Given the description of an element on the screen output the (x, y) to click on. 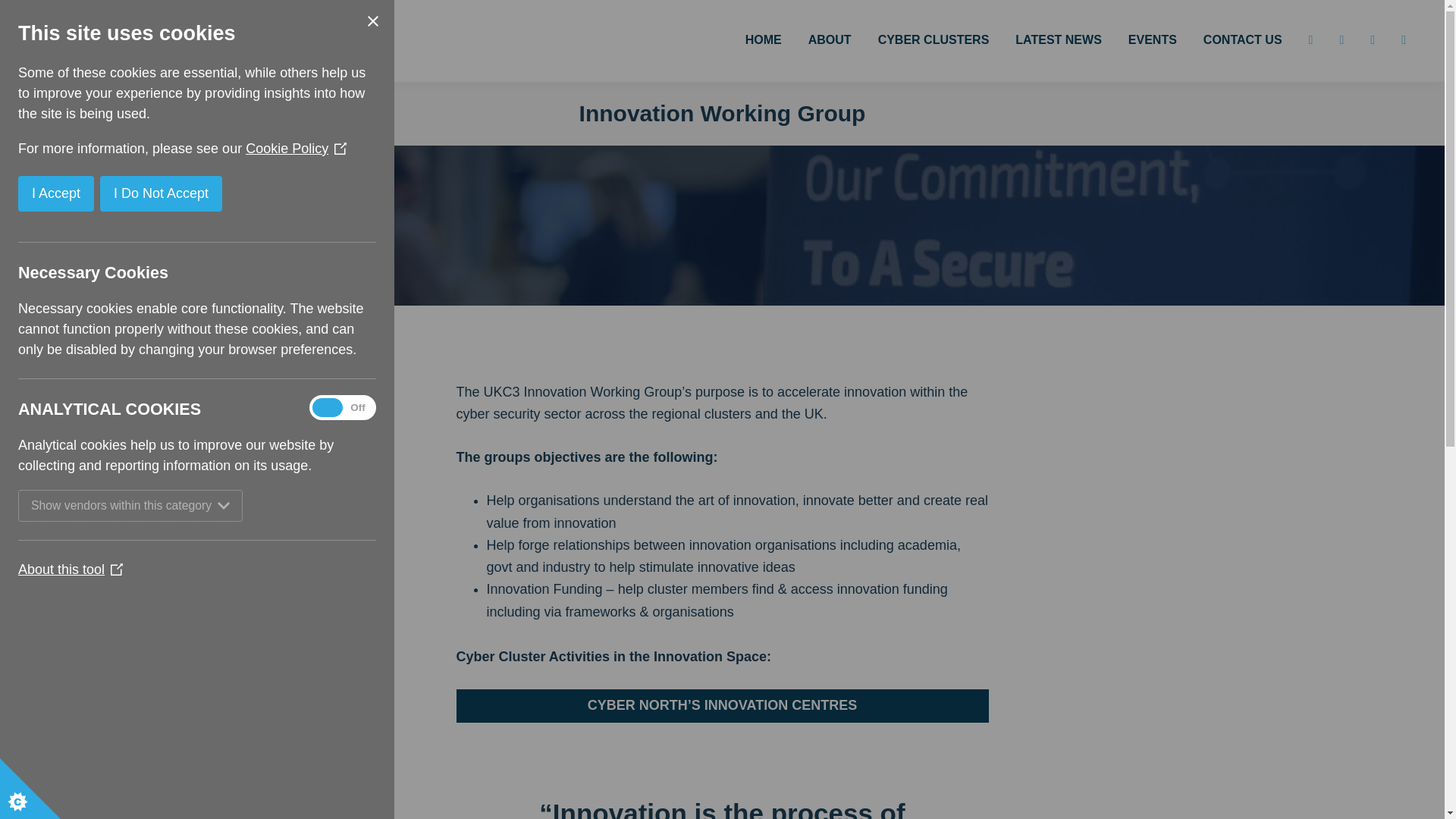
LATEST NEWS (1058, 40)
Show vendors within this category (51, 505)
I Do Not Accept (27, 193)
CONTACT US (1243, 40)
EVENTS (1152, 40)
ABOUT (829, 40)
HOME (763, 40)
CYBER CLUSTERS (933, 40)
